Given the description of an element on the screen output the (x, y) to click on. 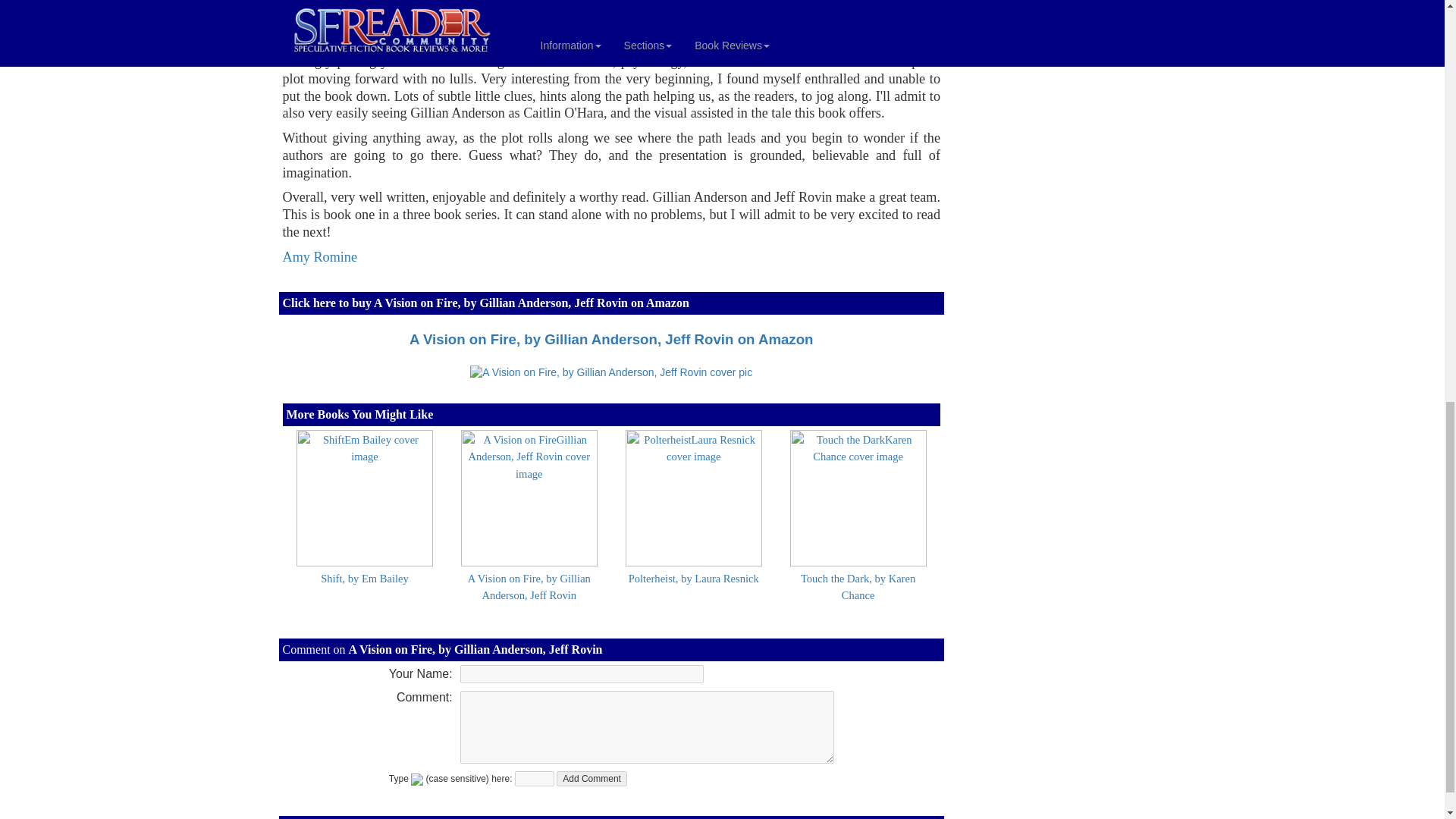
Add Comment (591, 778)
Amy Romine (319, 255)
A Vision on Fire, by Gillian Anderson, Jeff Rovin on Amazon (610, 339)
Amy Romine (319, 255)
